Given the description of an element on the screen output the (x, y) to click on. 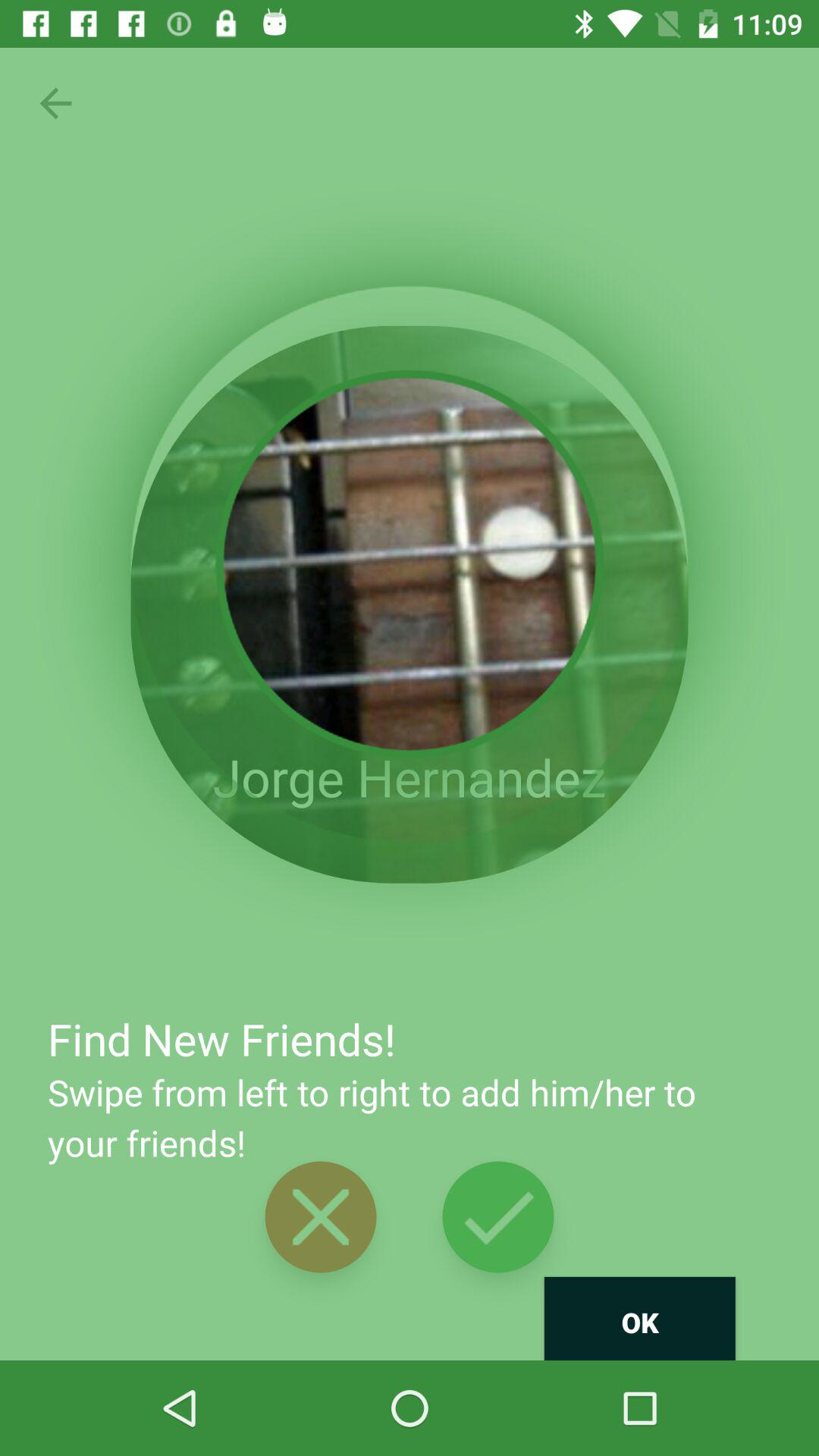
close (320, 1216)
